Given the description of an element on the screen output the (x, y) to click on. 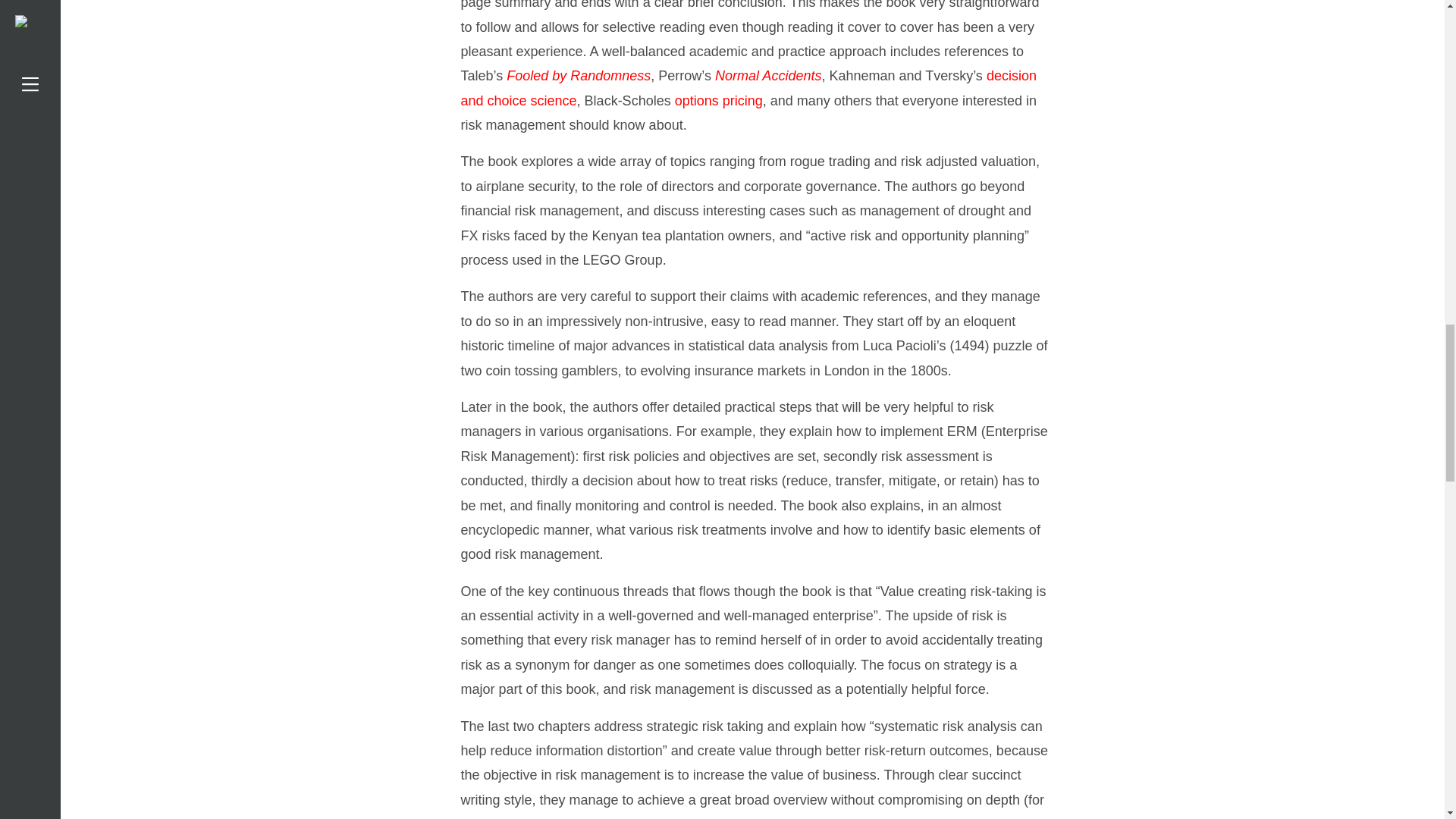
Fooled by Randomness (578, 75)
decision and choice science (748, 87)
Normal Accidents (767, 75)
options pricing (718, 100)
